Given the description of an element on the screen output the (x, y) to click on. 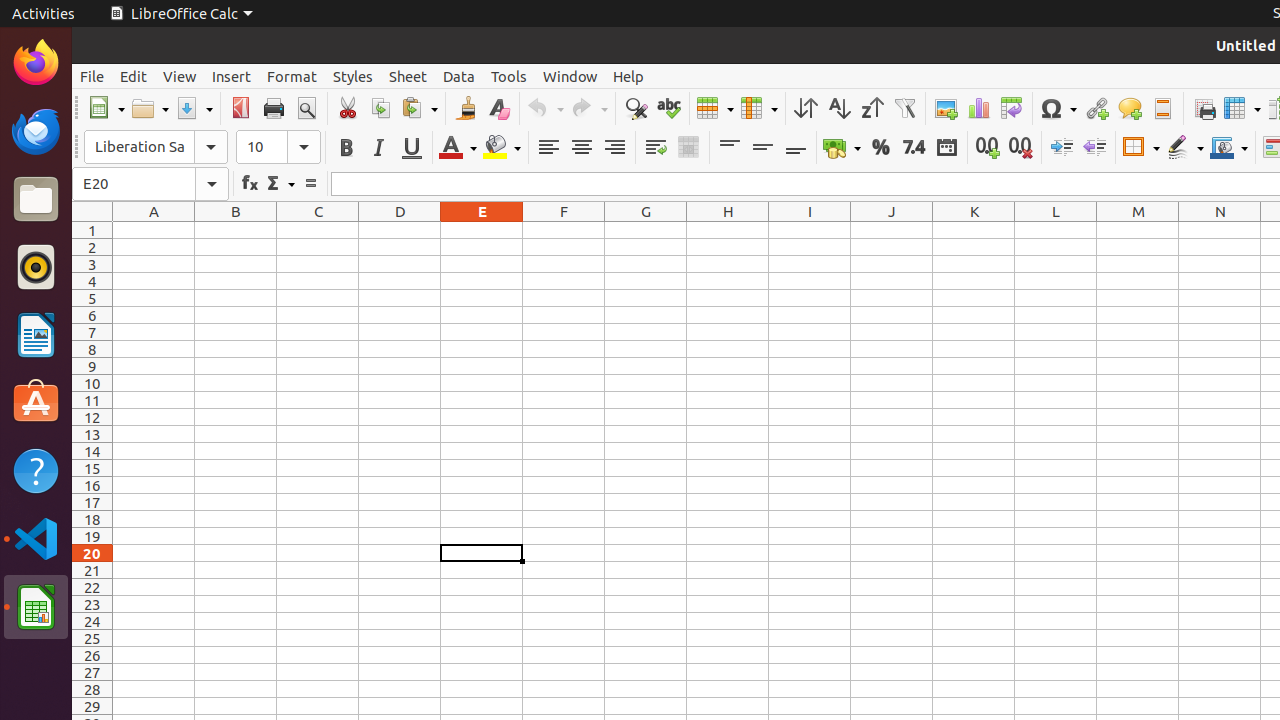
Currency Element type: push-button (842, 147)
Number Element type: push-button (913, 147)
Chart Element type: push-button (978, 108)
Function Wizard Element type: push-button (249, 183)
AutoFilter Element type: push-button (904, 108)
